Given the description of an element on the screen output the (x, y) to click on. 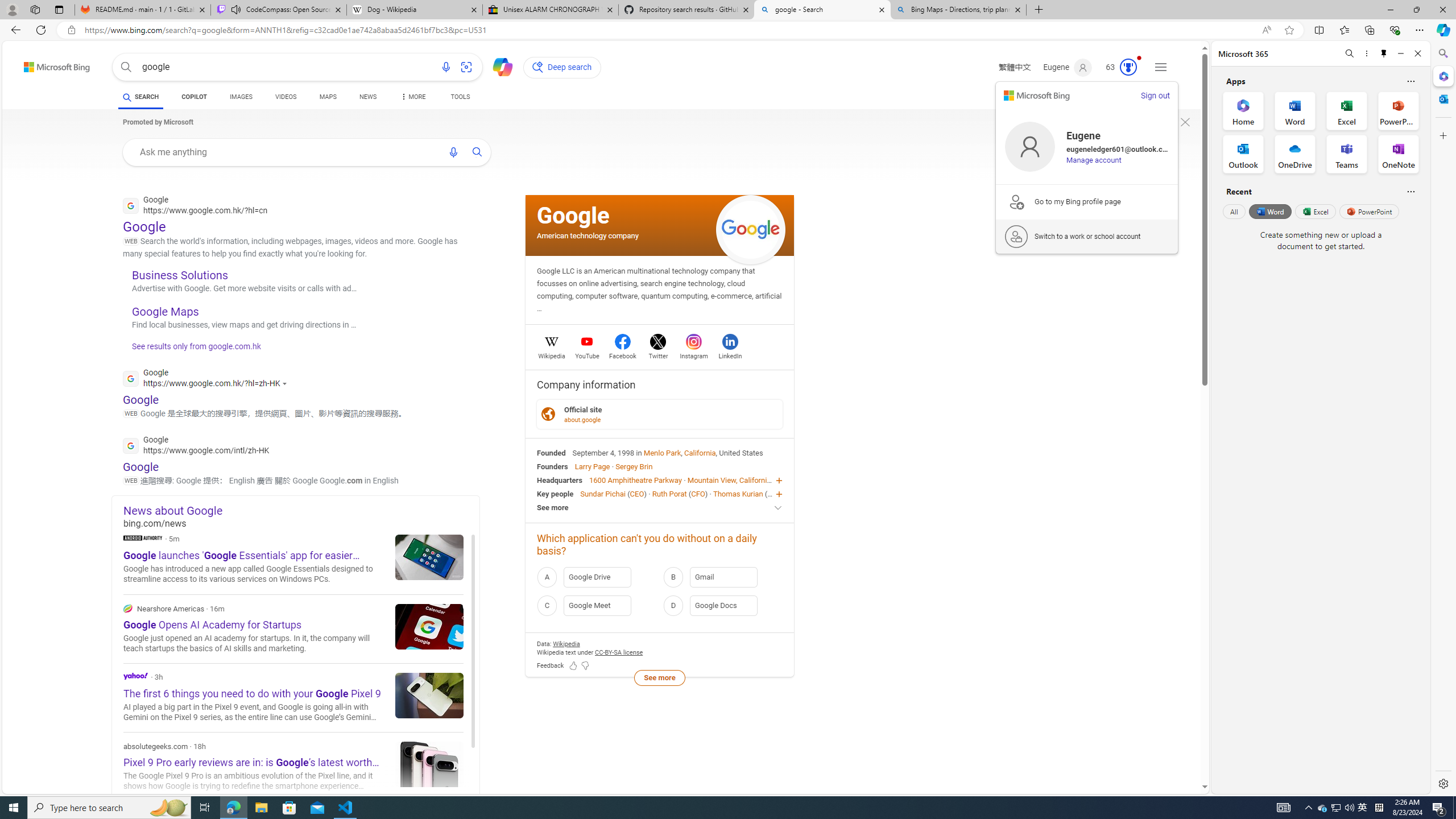
Profile Picture (1029, 146)
SEARCH (140, 96)
VIDEOS (285, 98)
Android Authority (142, 537)
PowerPoint (1369, 210)
Switch to a work or school account (1086, 235)
microsoft logo (1036, 95)
Search more (1179, 753)
MAPS (327, 96)
Instagram (693, 354)
See results only from google.com.hk (191, 348)
